Given the description of an element on the screen output the (x, y) to click on. 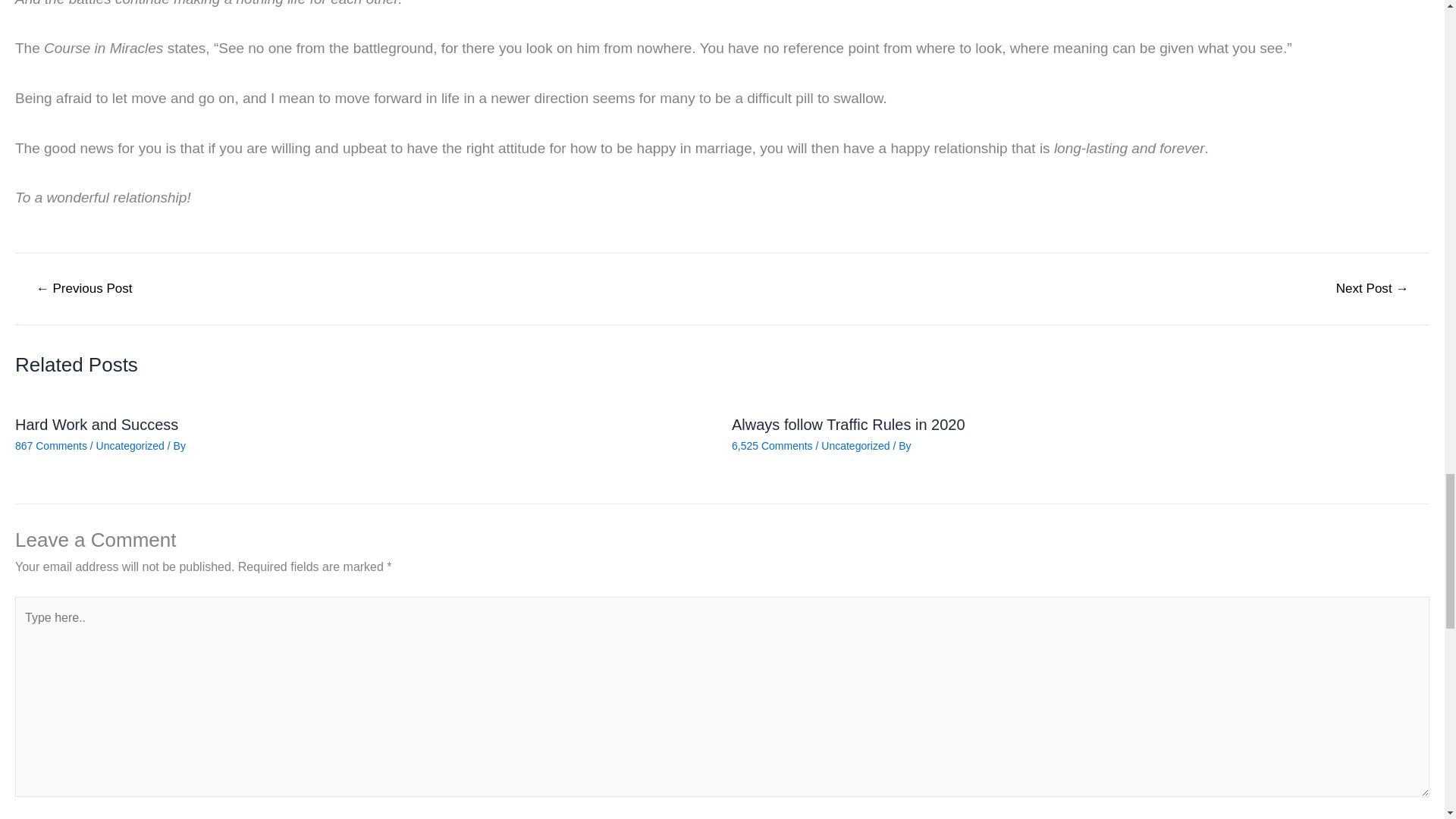
867 Comments (50, 445)
6,525 Comments (772, 445)
Always follow Traffic Rules in 2020 (848, 424)
Hard Work and Success (95, 424)
